Given the description of an element on the screen output the (x, y) to click on. 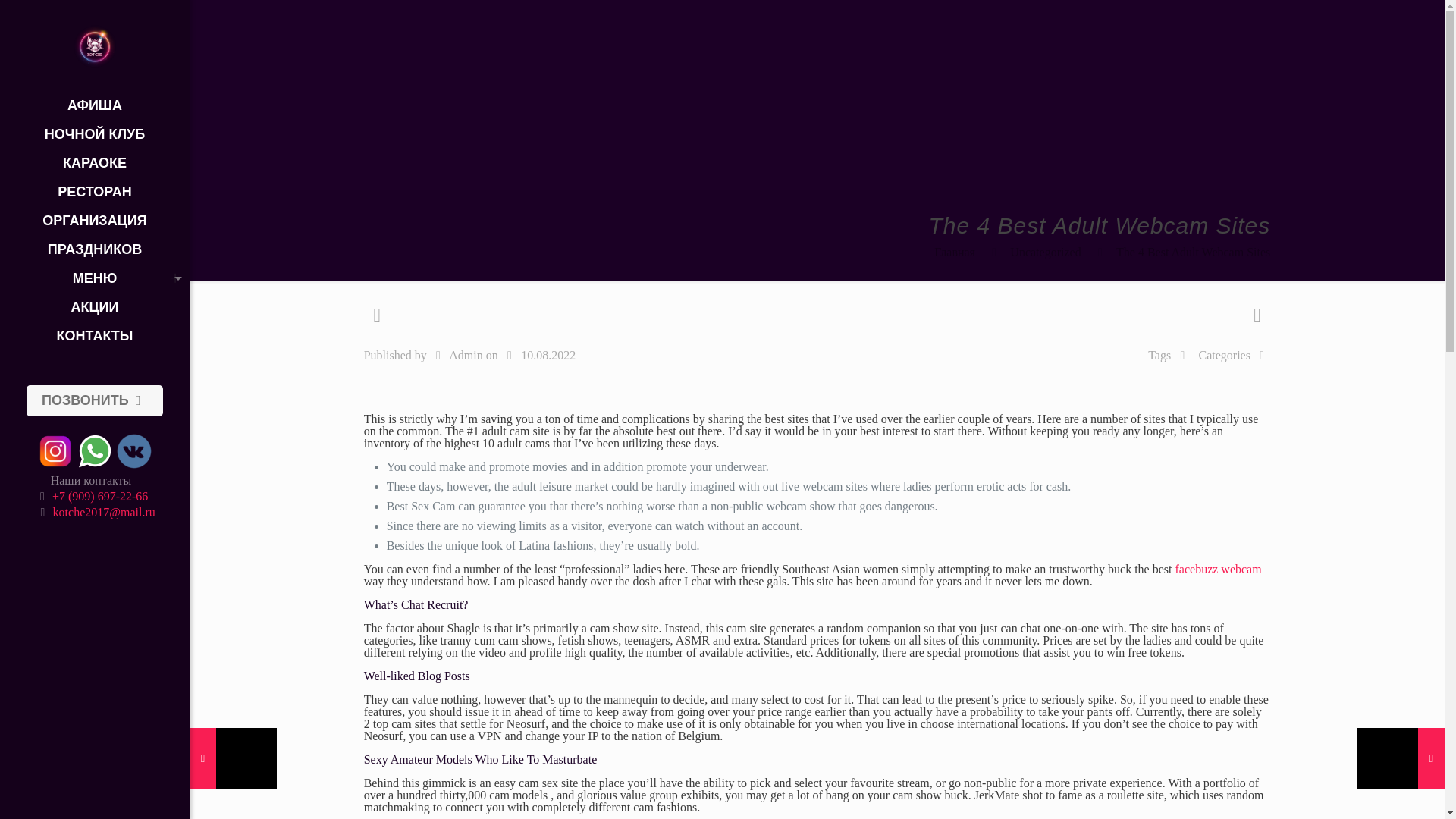
Uncategorized (1045, 251)
Admin (464, 355)
facebuzz webcam (1218, 568)
